Given the description of an element on the screen output the (x, y) to click on. 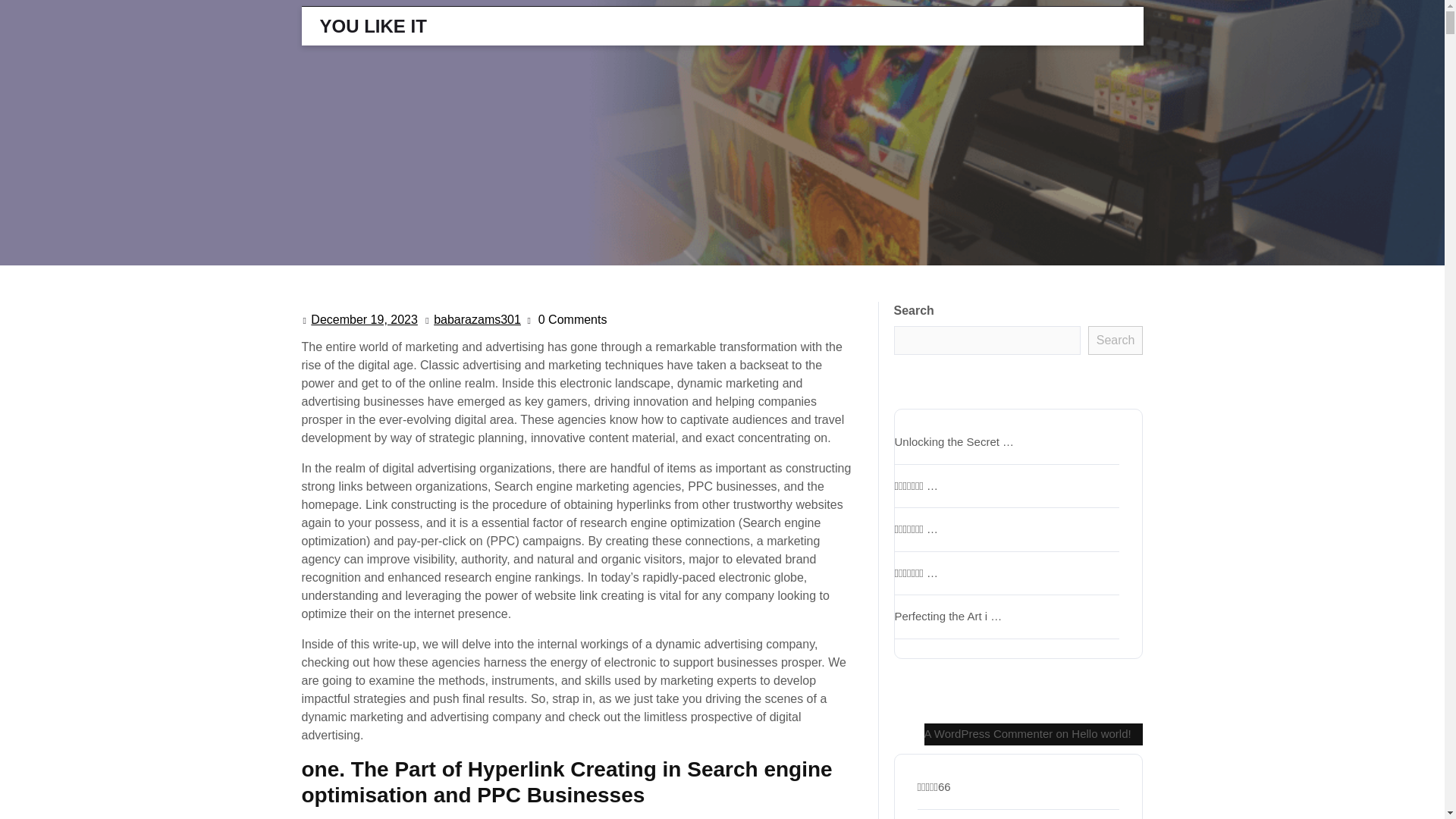
YOU LIKE IT (373, 25)
Hello world! (1101, 733)
A WordPress Commenter (987, 733)
YOU LIKE IT (477, 319)
Search (373, 25)
